Given the description of an element on the screen output the (x, y) to click on. 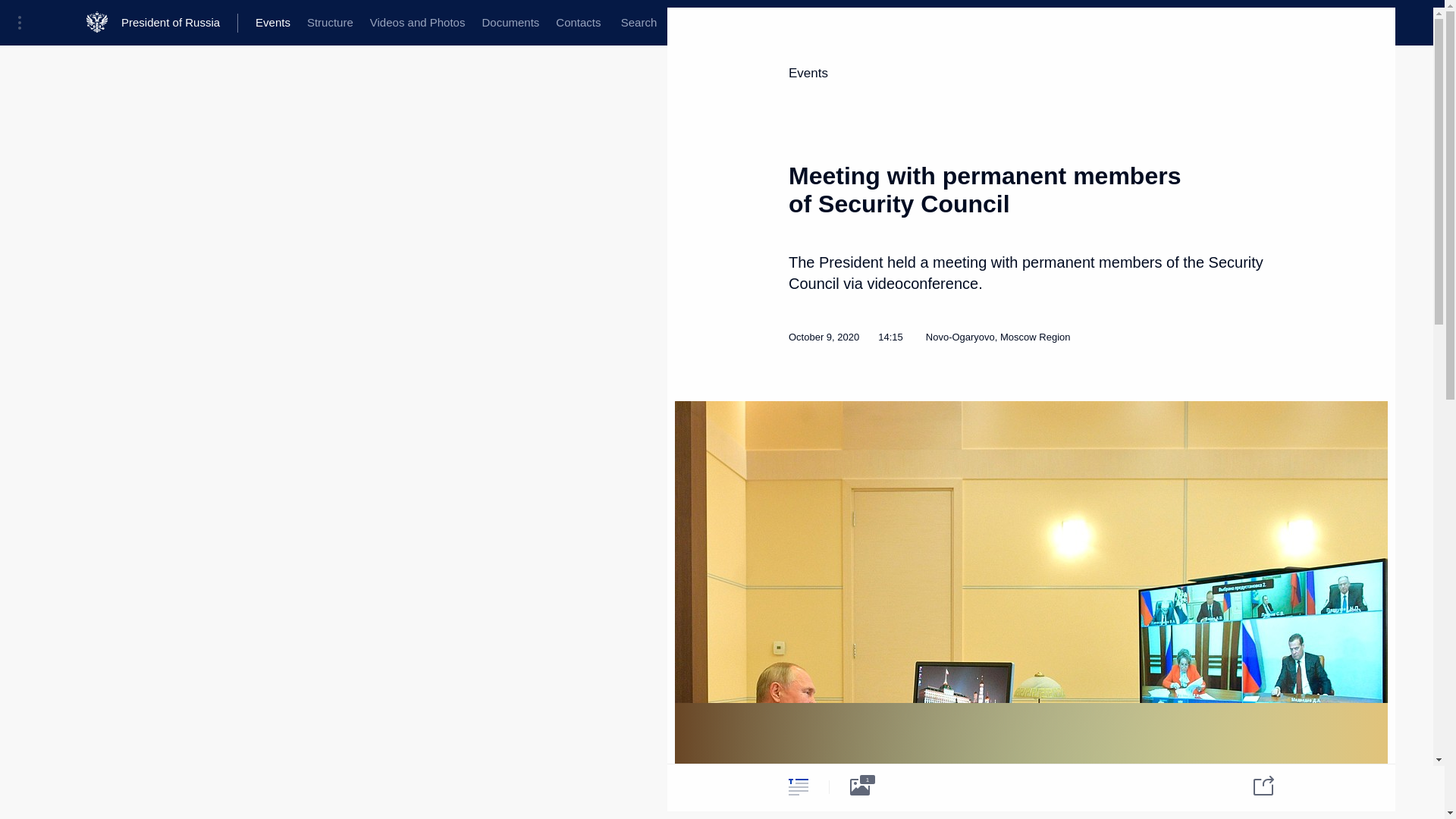
Global website search (638, 22)
Structure (329, 22)
Events (272, 22)
Events (808, 73)
Text (798, 786)
President of Russia (179, 22)
Share (1253, 784)
Photo (859, 786)
Documents (510, 22)
Search (638, 22)
Videos and Photos (417, 22)
Contacts (577, 22)
Portal Menu (24, 22)
